Given the description of an element on the screen output the (x, y) to click on. 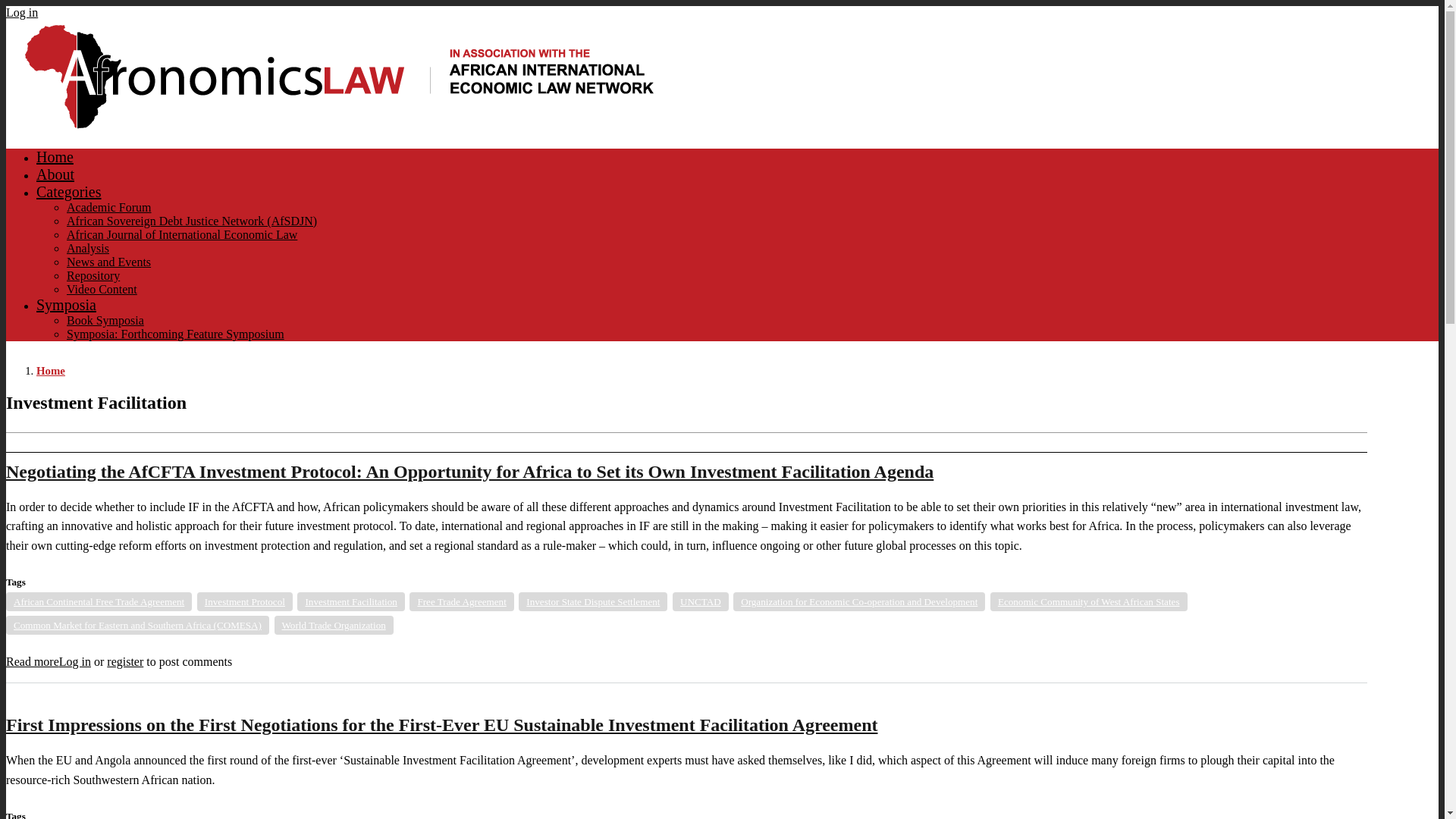
Log in (74, 661)
African Journal of International Economic Law (181, 234)
Video Content (101, 288)
Home (50, 370)
Academic Forum (108, 206)
Academic Forum (108, 206)
Investment Facilitation (350, 601)
Economic Community of West African States (1089, 601)
